Given the description of an element on the screen output the (x, y) to click on. 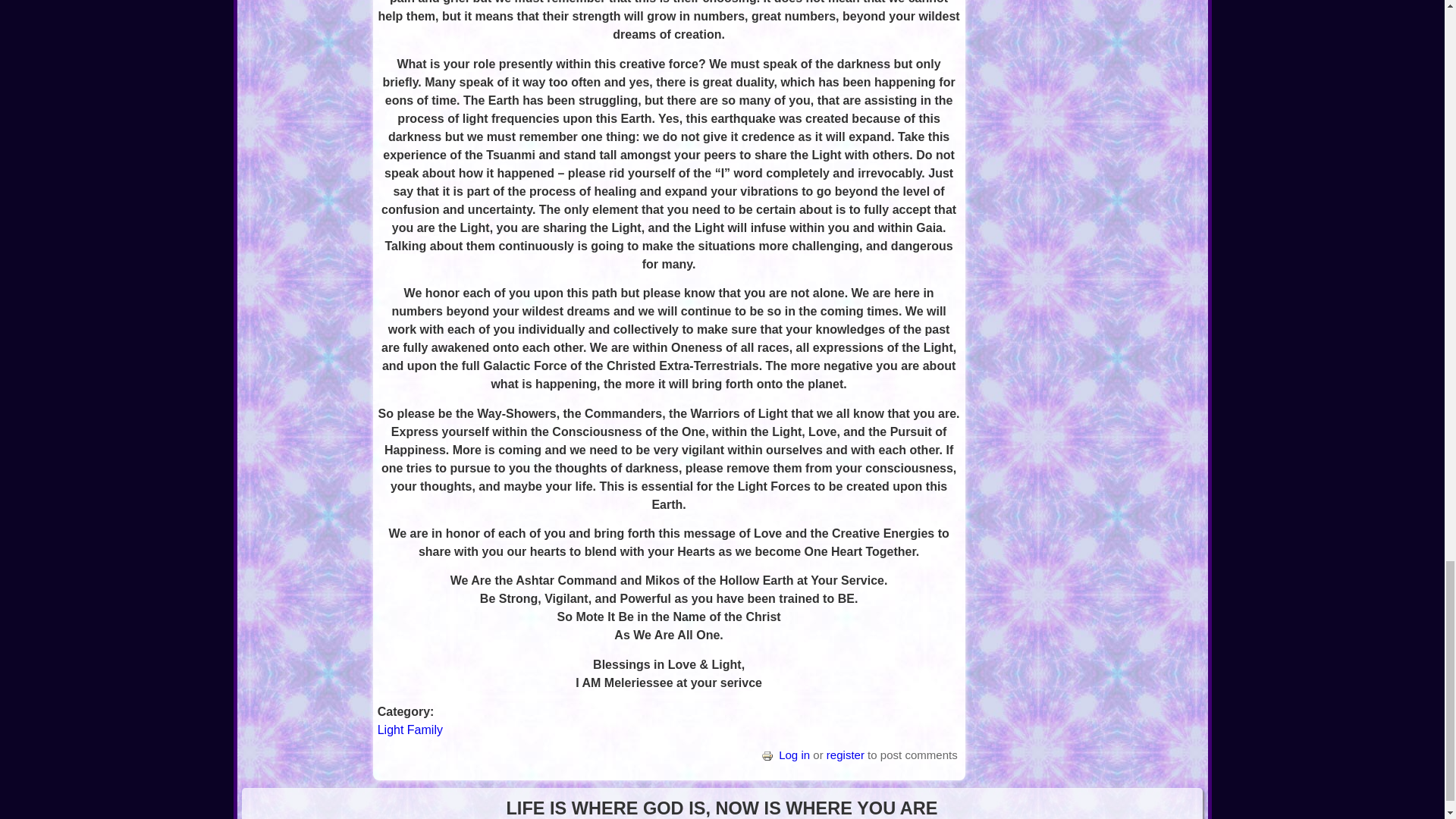
Log in (793, 754)
register (845, 754)
Printer-friendly version (767, 756)
Display a printer-friendly version of this page. (767, 754)
Light Family (409, 729)
